Given the description of an element on the screen output the (x, y) to click on. 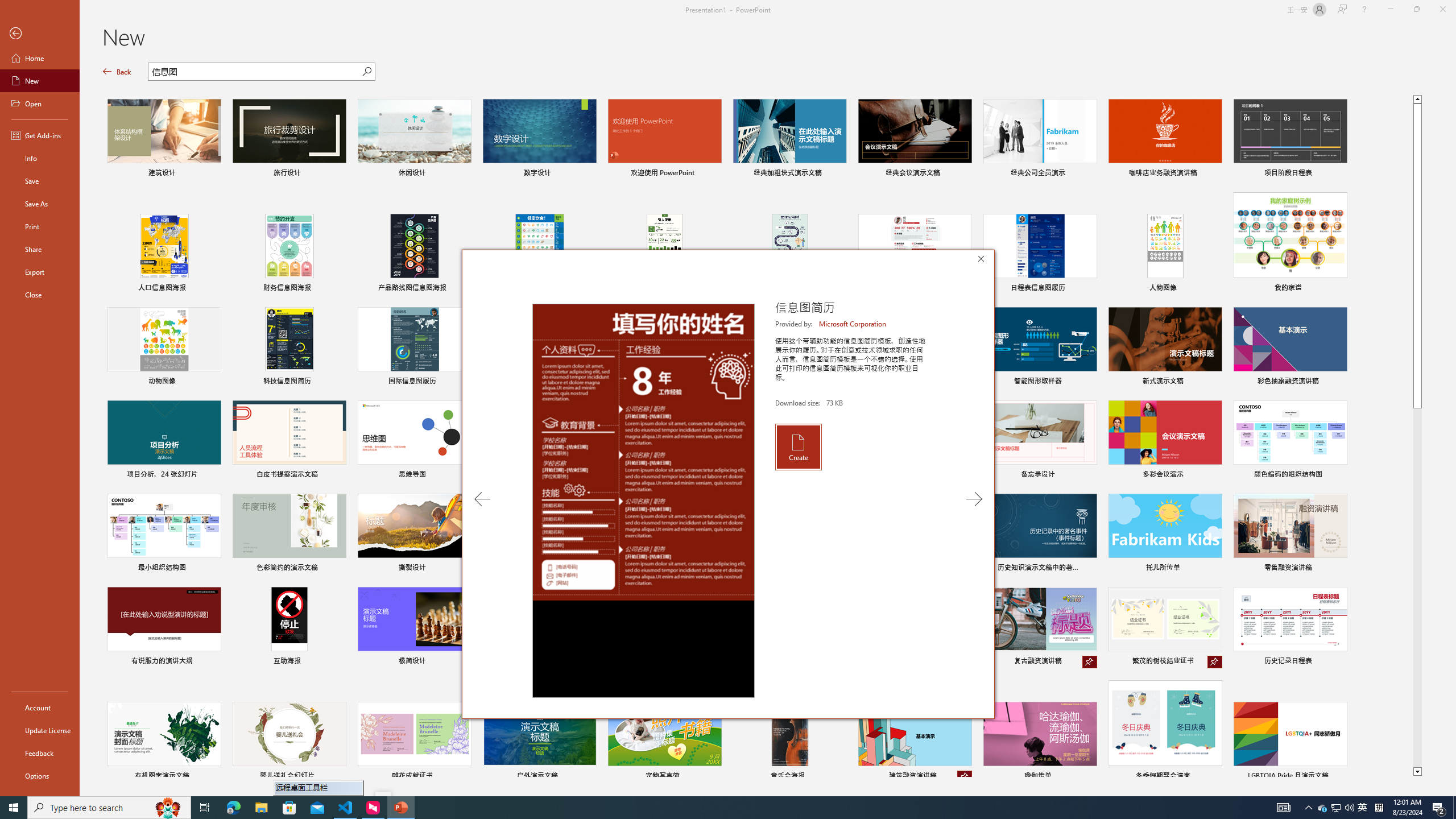
Back (1335, 807)
Search highlights icon opens search home window (40, 33)
User Promoted Notification Area (167, 807)
Save As (1336, 807)
Previous Template (40, 203)
Feedback (481, 499)
Open (40, 753)
